Given the description of an element on the screen output the (x, y) to click on. 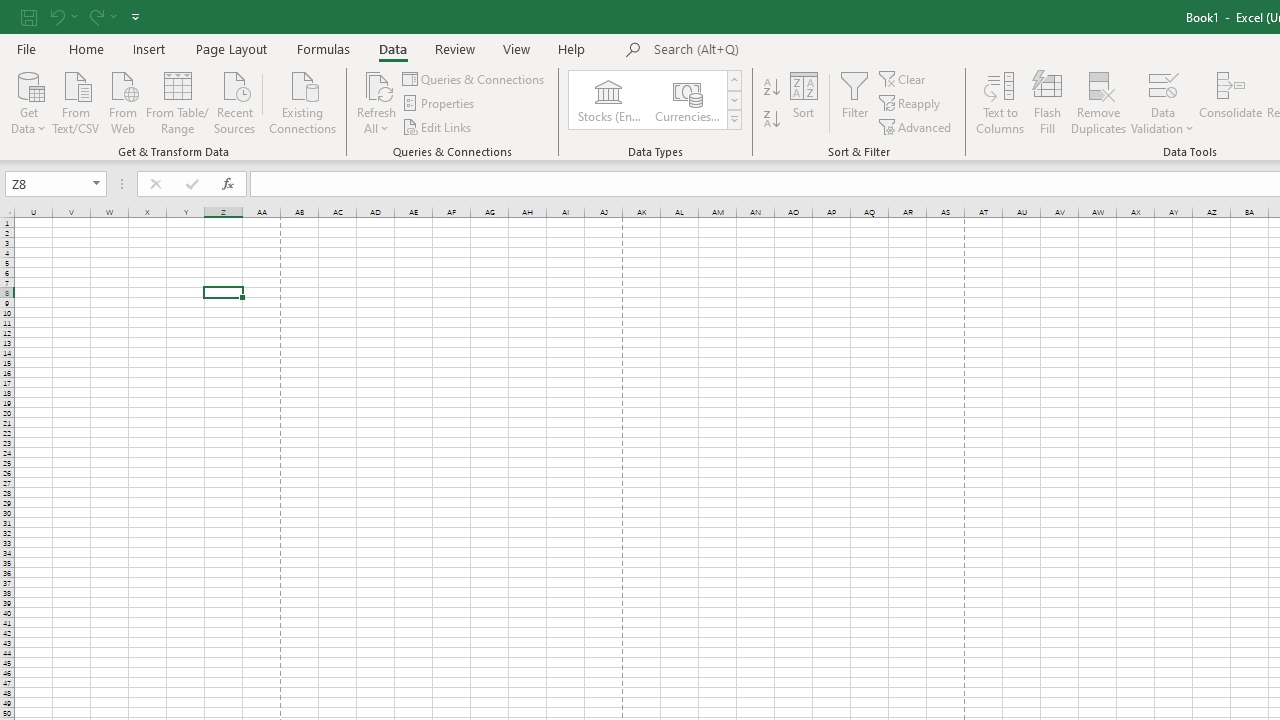
Consolidate... (1230, 102)
